Given the description of an element on the screen output the (x, y) to click on. 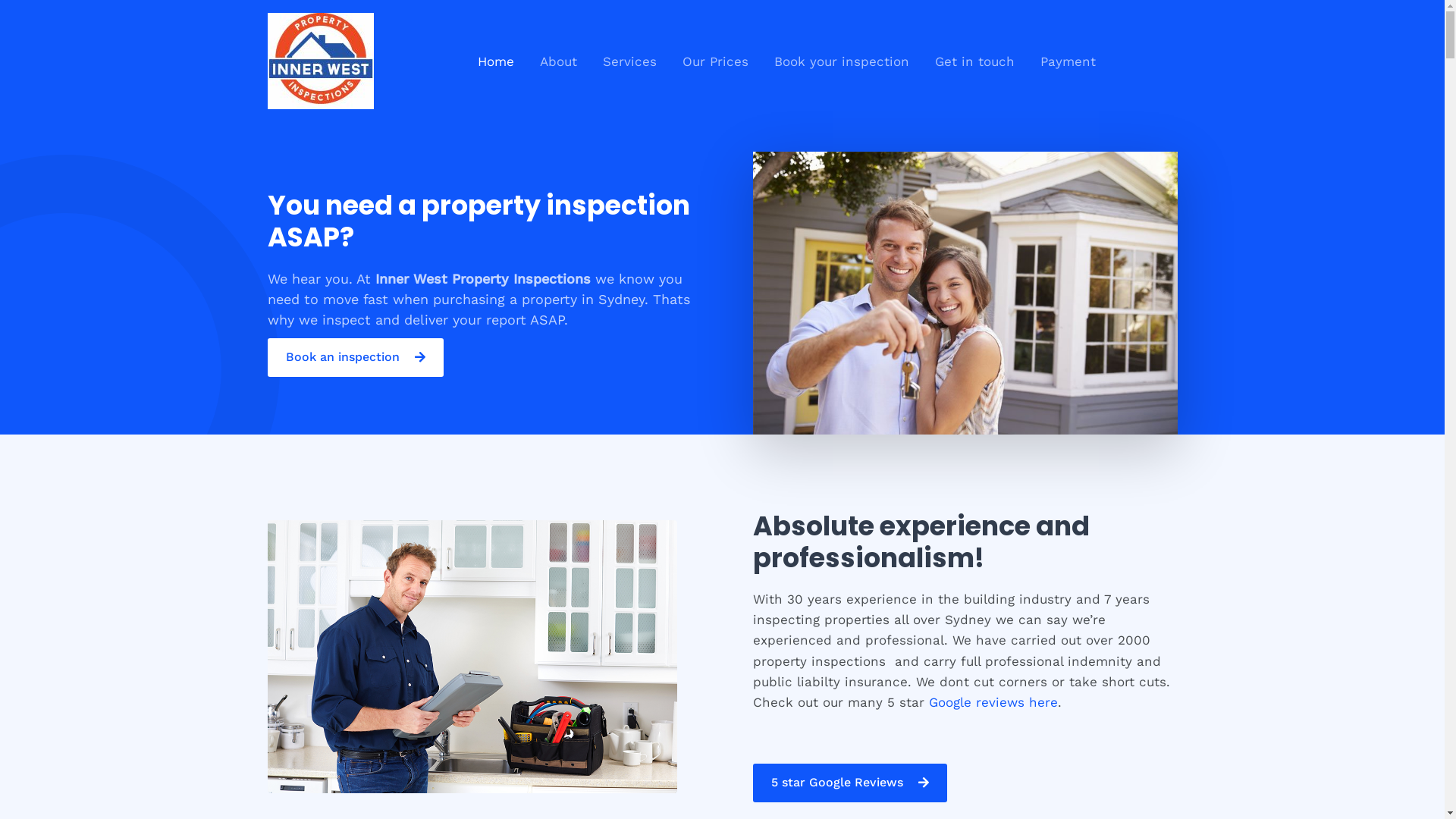
Our Prices Element type: text (714, 61)
About Element type: text (557, 61)
Book your inspection Element type: text (841, 61)
5 star Google Reviews Element type: text (849, 782)
Book an inspection Element type: text (354, 357)
Payment Element type: text (1066, 61)
Services Element type: text (629, 61)
Google reviews here Element type: text (992, 701)
Home Element type: text (495, 61)
Get in touch Element type: text (974, 61)
